Given the description of an element on the screen output the (x, y) to click on. 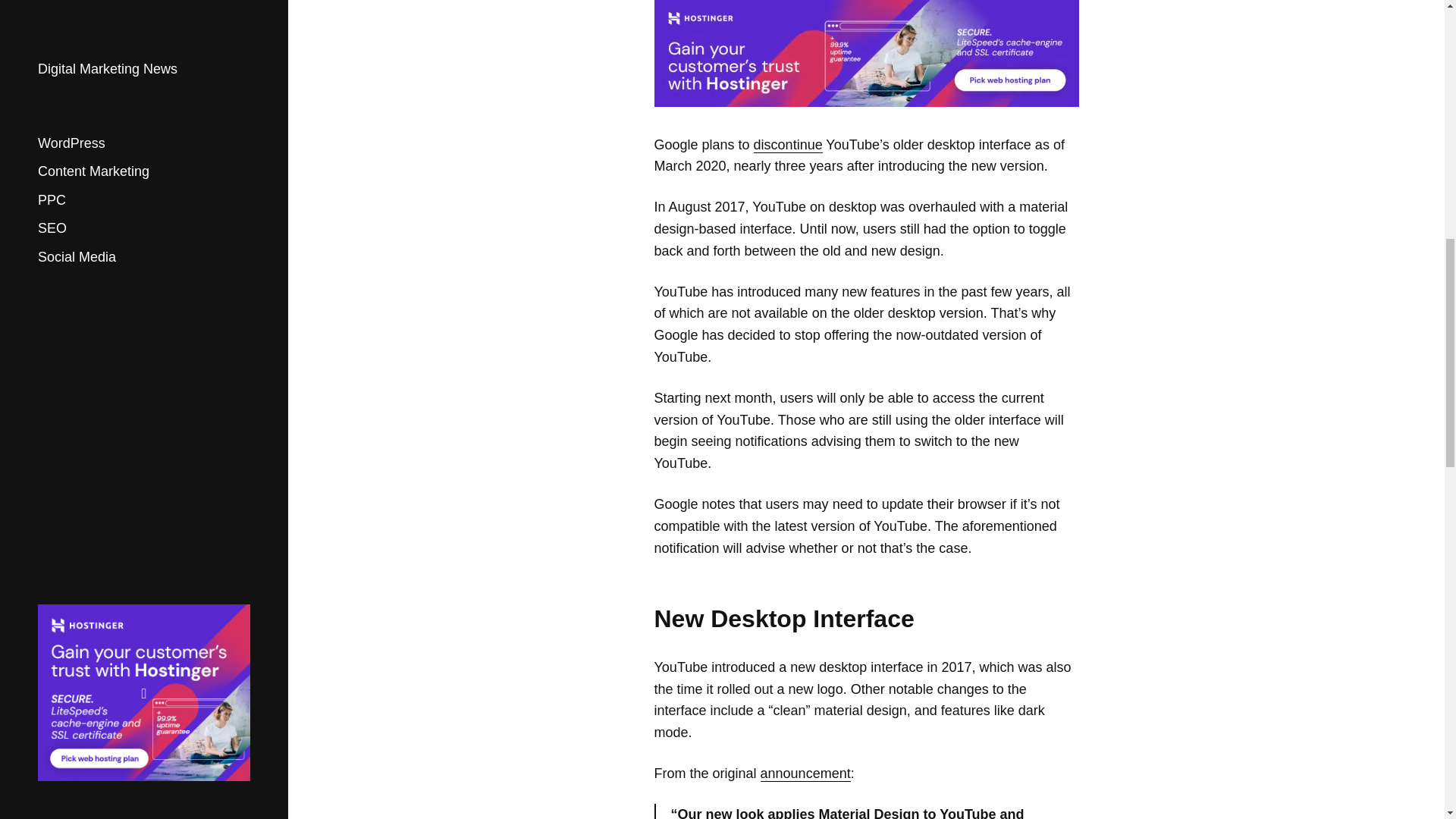
discontinue (788, 145)
announcement (805, 773)
